Given the description of an element on the screen output the (x, y) to click on. 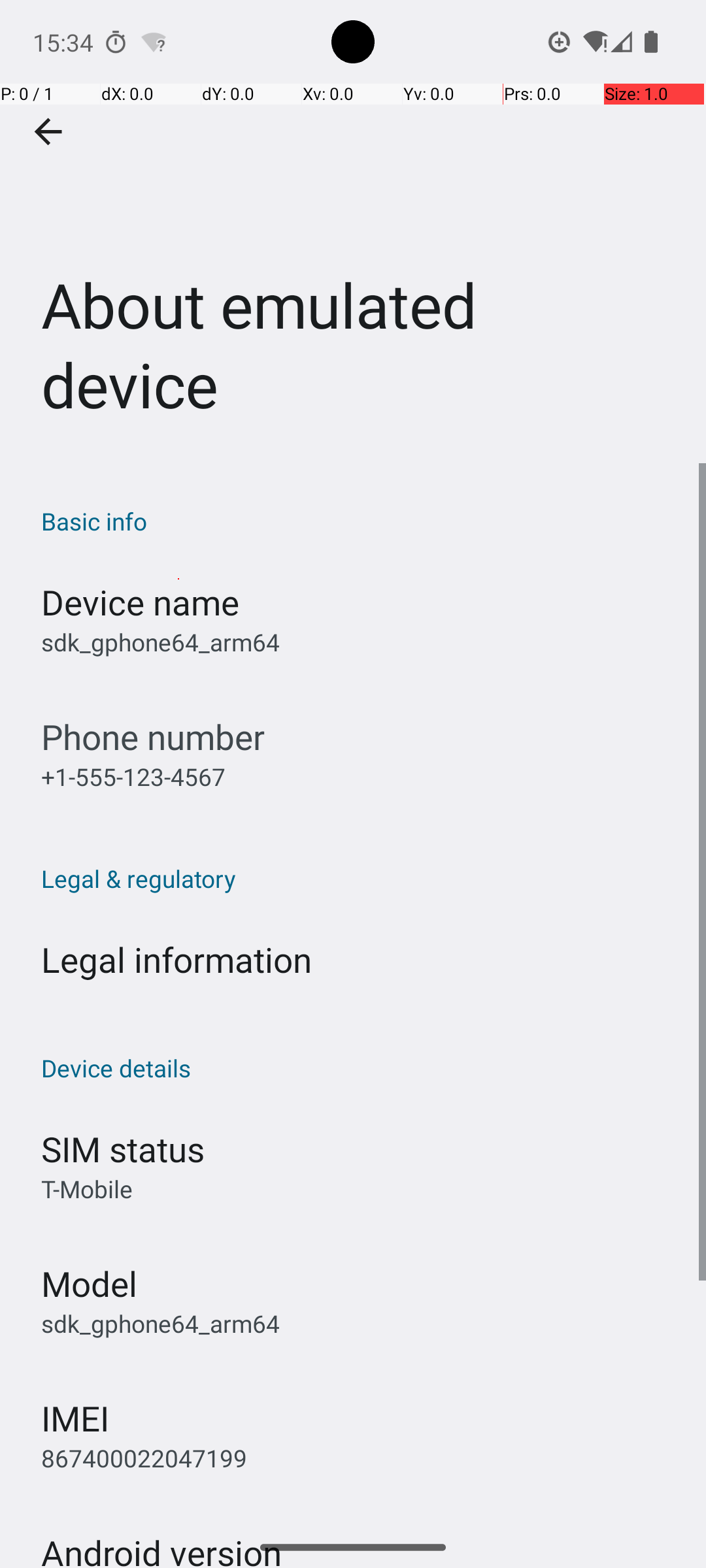
About emulated device Element type: android.widget.FrameLayout (353, 231)
Basic info Element type: android.widget.TextView (359, 520)
Phone number Element type: android.widget.TextView (152, 736)
+1-555-123-4567 Element type: android.widget.TextView (133, 776)
Legal & regulatory Element type: android.widget.TextView (359, 878)
Legal information Element type: android.widget.TextView (176, 959)
Device details Element type: android.widget.TextView (359, 1067)
SIM status Element type: android.widget.TextView (122, 1148)
Model Element type: android.widget.TextView (89, 1283)
IMEI Element type: android.widget.TextView (75, 1417)
867400022047199 Element type: android.widget.TextView (144, 1457)
